Given the description of an element on the screen output the (x, y) to click on. 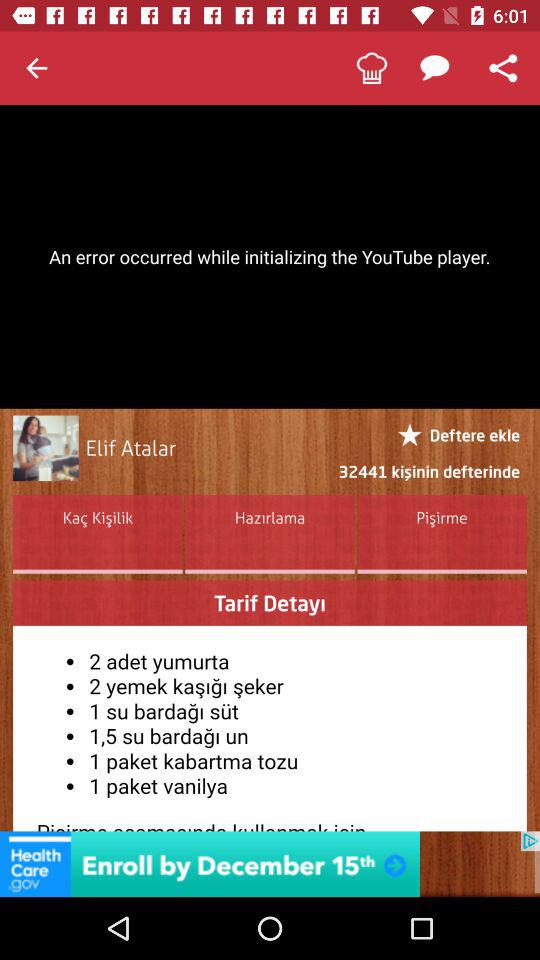
editor profile (45, 448)
